Given the description of an element on the screen output the (x, y) to click on. 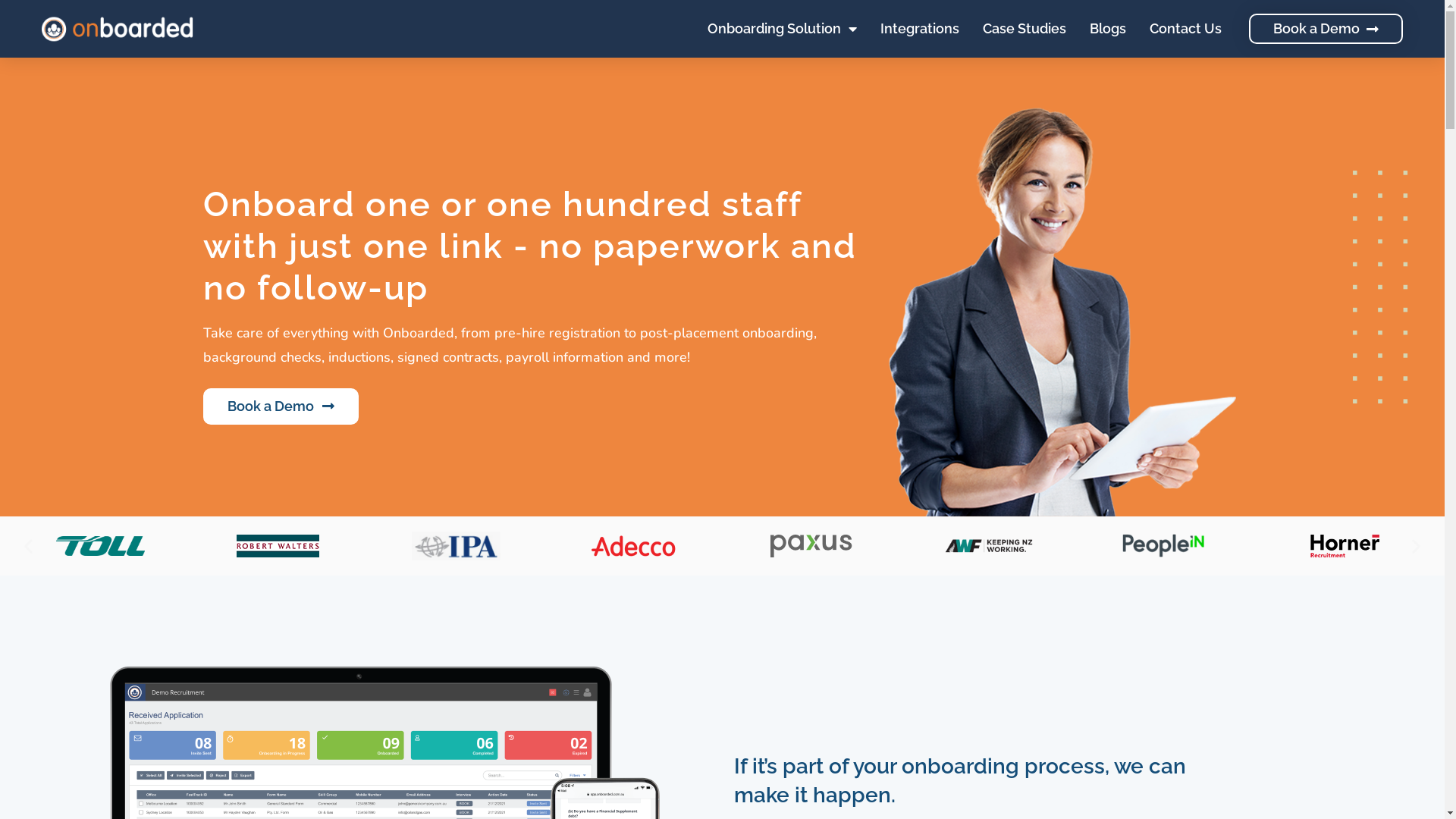
Blogs Element type: text (1107, 28)
Onboarding Solution Element type: text (782, 28)
Book a Demo Element type: text (1325, 28)
Book a Demo Element type: text (280, 406)
Integrations Element type: text (919, 28)
Contact Us Element type: text (1185, 28)
Case Studies Element type: text (1024, 28)
